Given the description of an element on the screen output the (x, y) to click on. 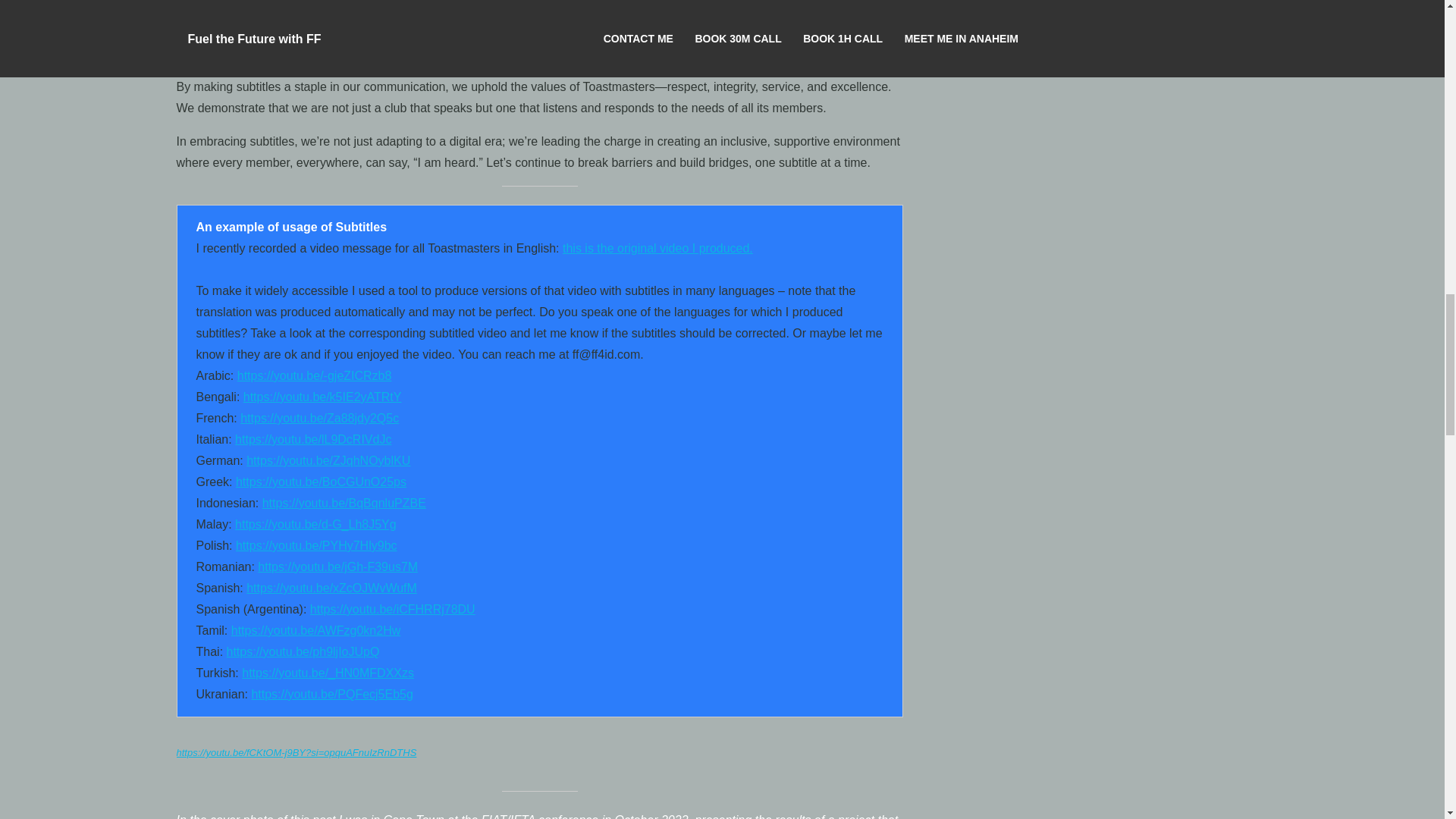
this is the original video I produced. (657, 247)
